Given the description of an element on the screen output the (x, y) to click on. 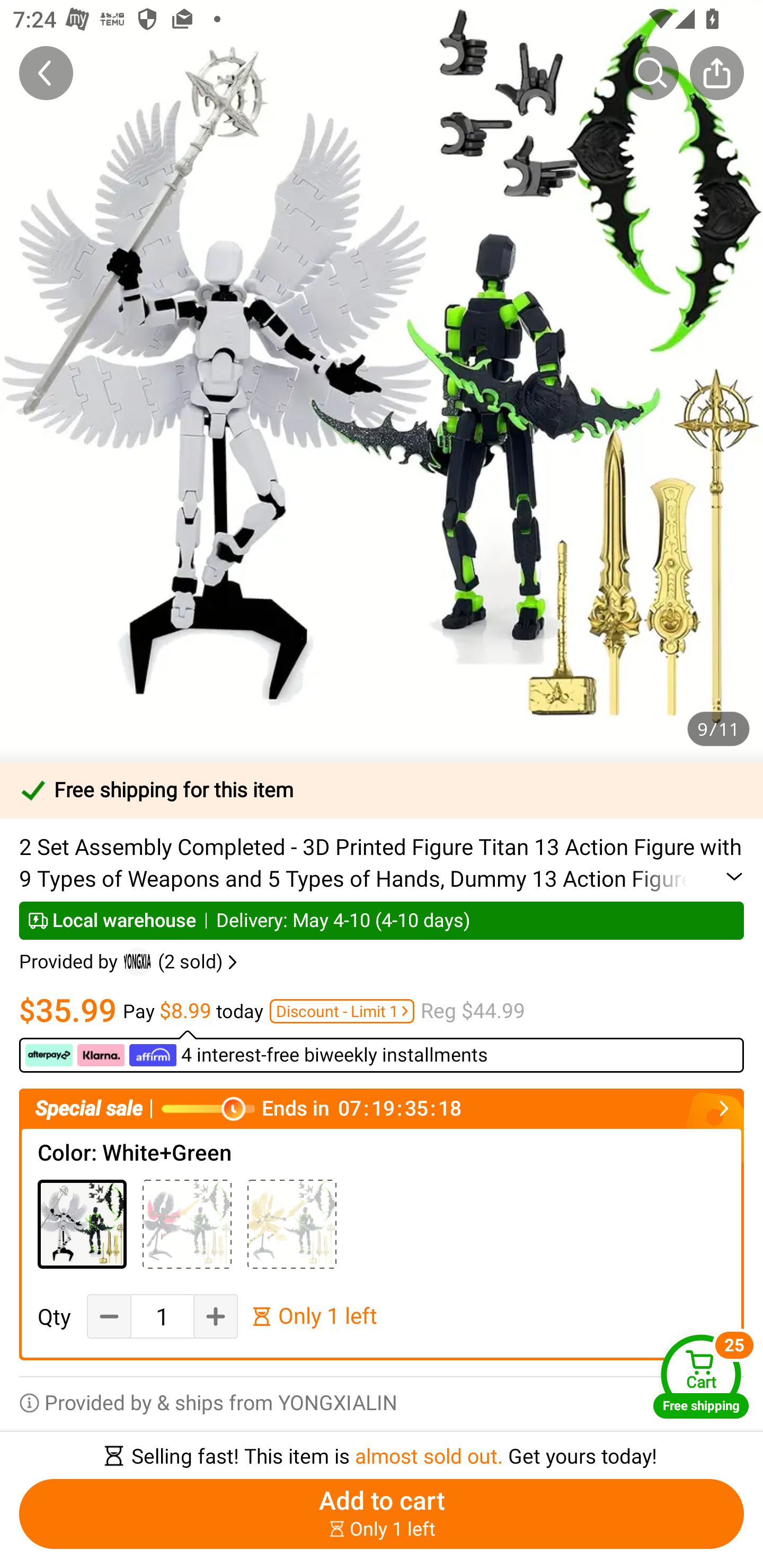
Back (46, 72)
Share (716, 72)
Free shipping for this item (381, 790)
Local warehouse Delivery: May 4-10 (4-10 days) (381, 920)
By null(2 sold) Provided by  (2 sold) (130, 961)
Provided by  (70, 961)
￼ ￼ ￼ 4 interest-free biweekly installments (381, 1051)
Special sale Ends in￼￼ (381, 1108)
White+Green (81, 1223)
Black+Green (186, 1223)
Golden+Green (291, 1223)
Decrease Quantity Button (108, 1316)
Add Quantity button (215, 1316)
1 (162, 1317)
Cart Free shipping Cart (701, 1375)
Add to cart ￼￼Only 1 left (381, 1513)
